Given the description of an element on the screen output the (x, y) to click on. 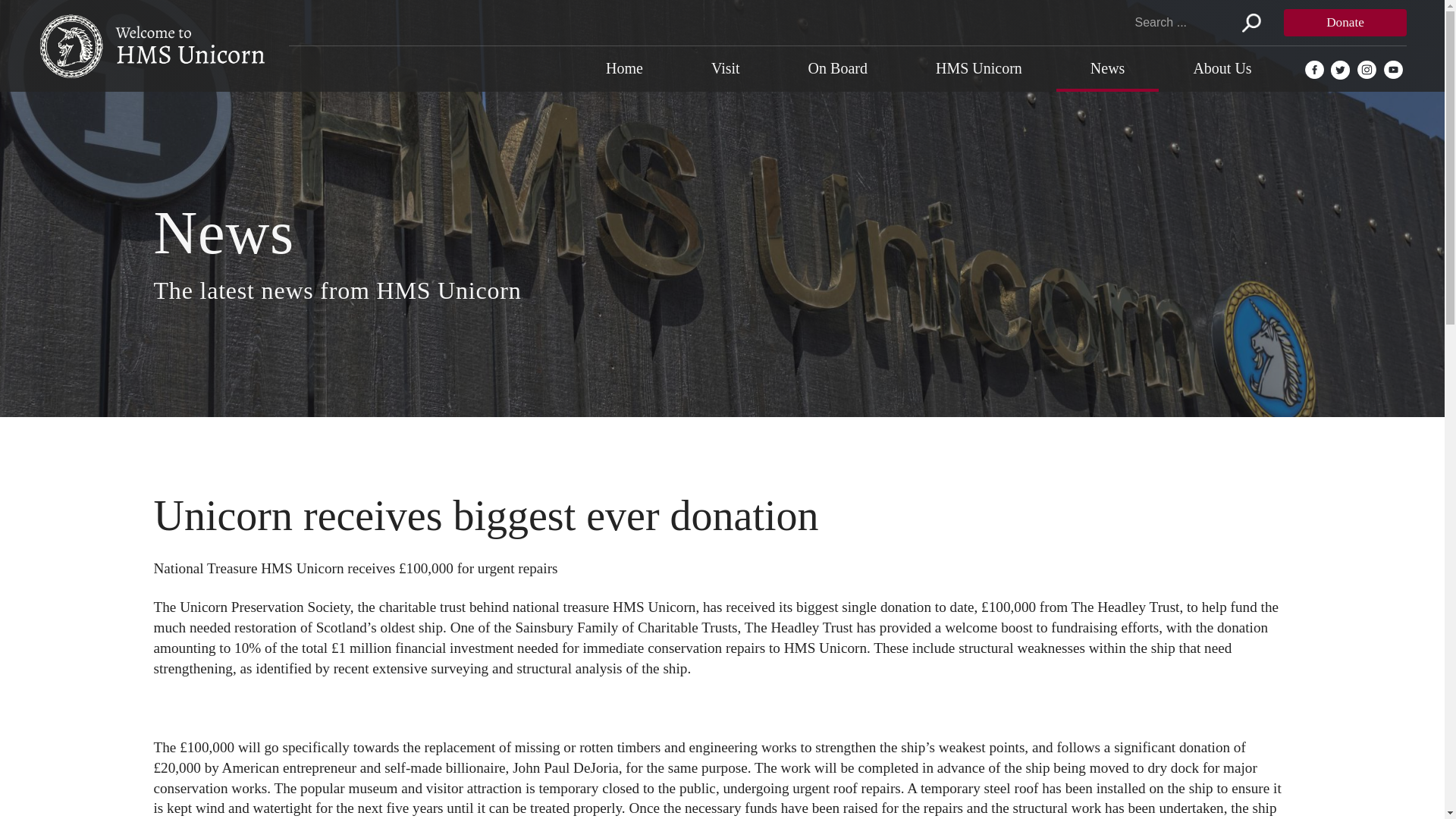
Visit (725, 68)
Donate (1345, 22)
On Board (837, 68)
About Us (1221, 68)
News (1107, 68)
HMS Unicorn (979, 68)
Home (624, 68)
